Given the description of an element on the screen output the (x, y) to click on. 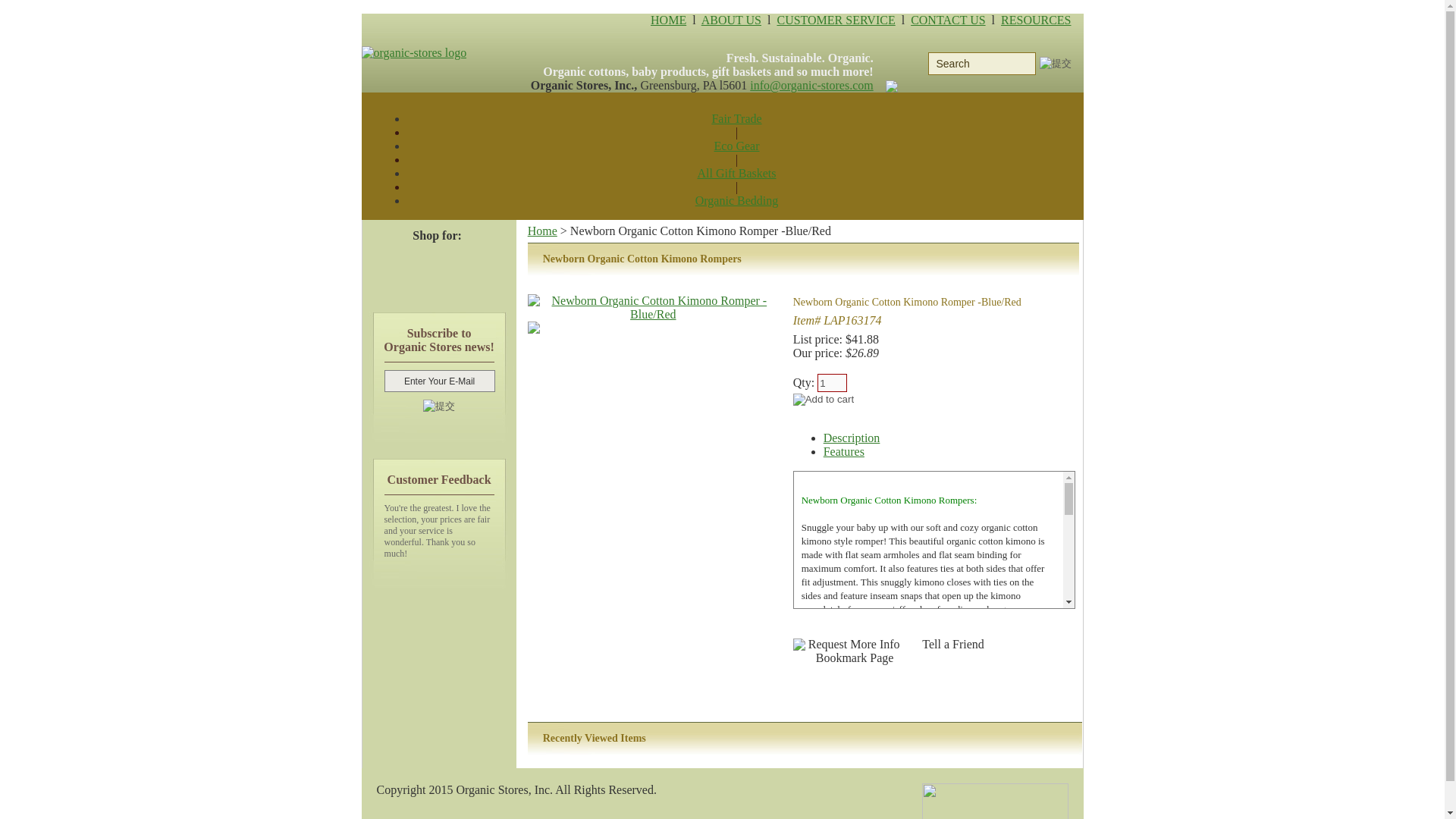
HOME (667, 19)
Enter Your E-Mail (439, 381)
Fair Trade (736, 118)
CONTACT US (948, 19)
CUSTOMER SERVICE (835, 19)
Add to cart (823, 399)
RESOURCES (1035, 19)
Eco Gear (737, 145)
All Gift Baskets (736, 173)
ABOUT US (731, 19)
